Given the description of an element on the screen output the (x, y) to click on. 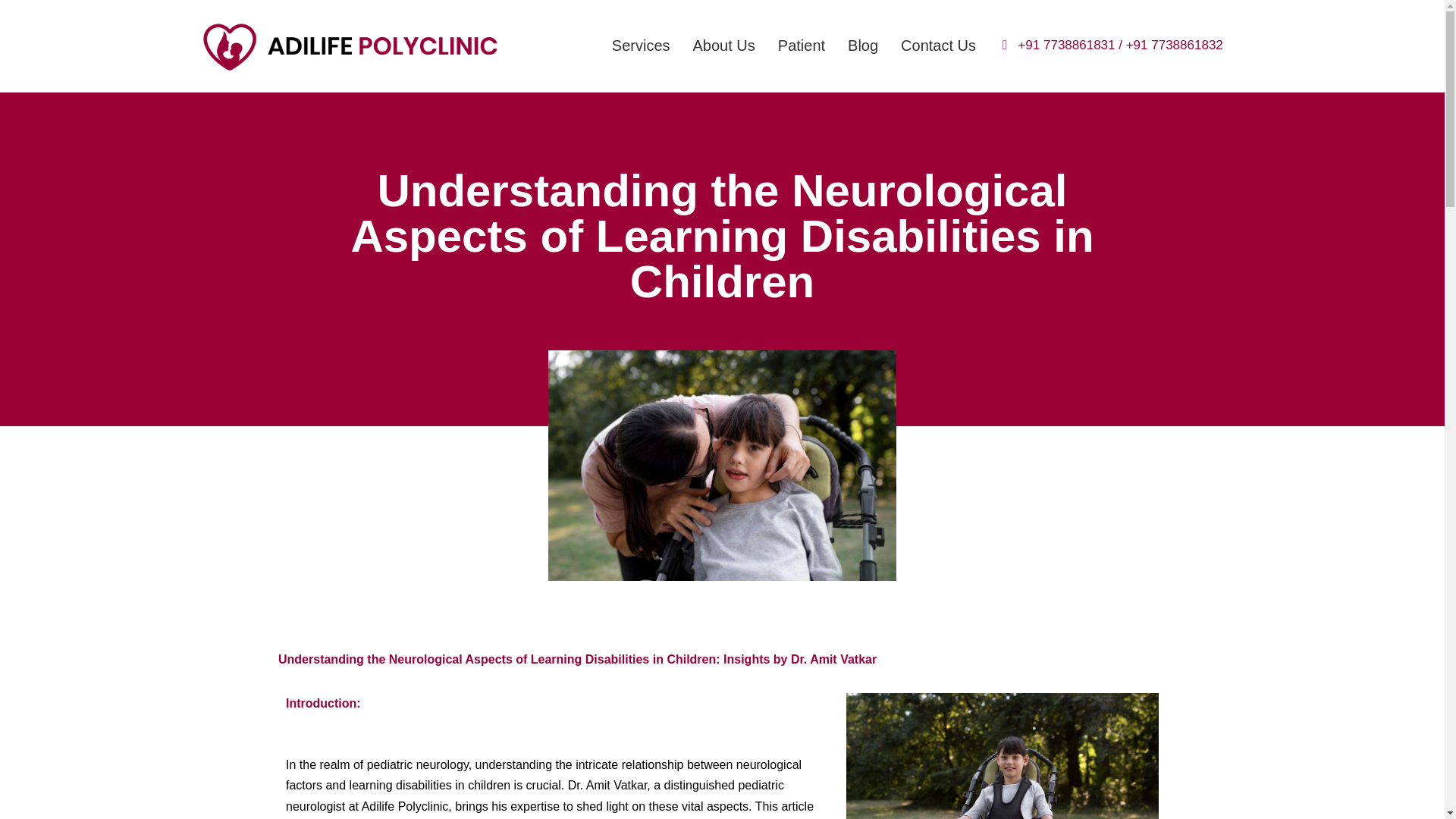
Patient (801, 45)
About Us (724, 45)
Services (640, 45)
Blog (862, 45)
Screenshot 2023-08-16 143812 (722, 465)
Contact Us (938, 45)
